Given the description of an element on the screen output the (x, y) to click on. 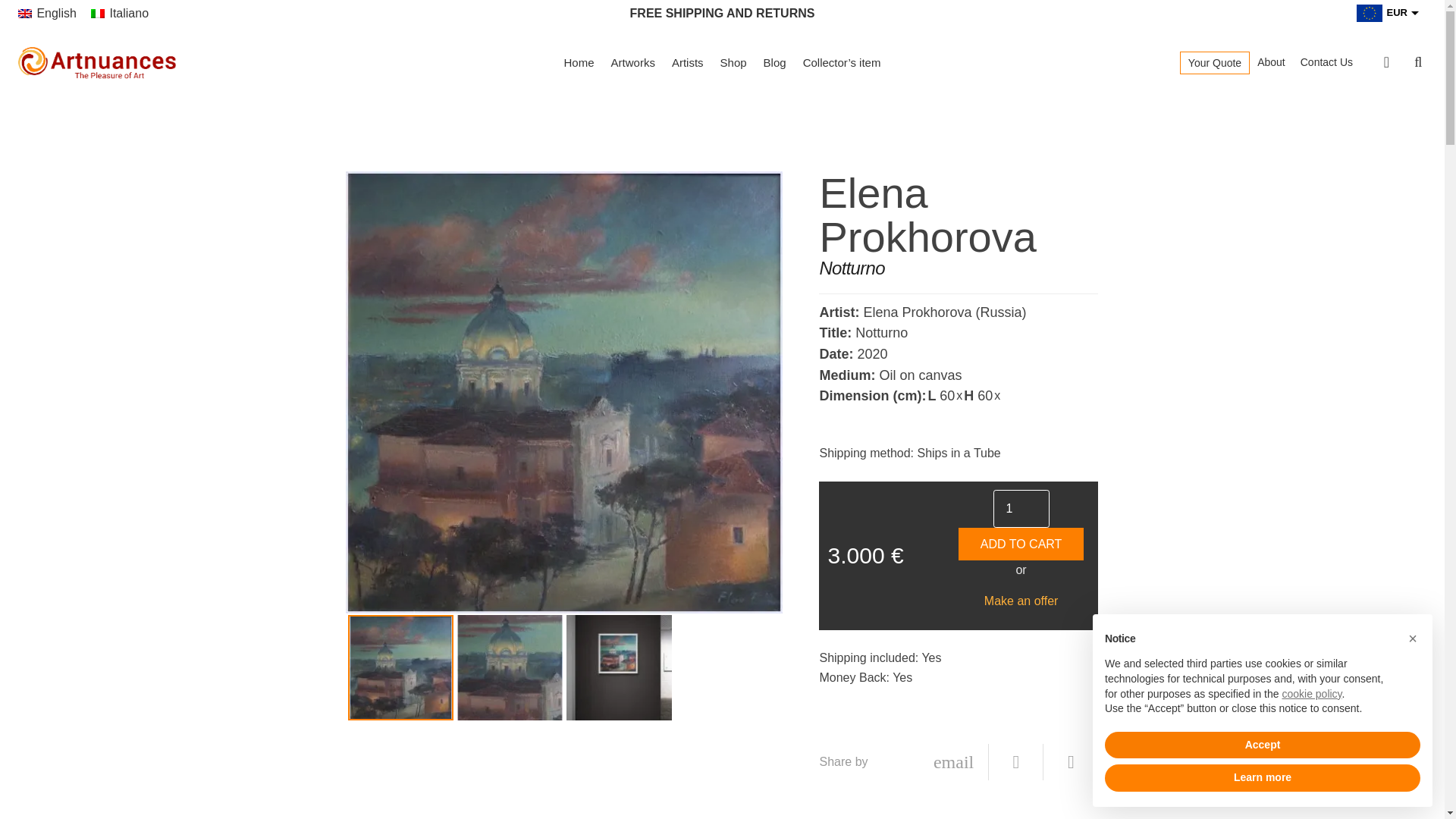
Italiano (119, 11)
Make an offer (1021, 600)
English (47, 11)
1 (1020, 508)
Your Quote (1214, 61)
ADD TO CART (1020, 544)
About (1271, 61)
Share this (1070, 761)
EUR (1380, 18)
Share this (1015, 761)
Email this (954, 761)
Contact Us (1326, 61)
